Given the description of an element on the screen output the (x, y) to click on. 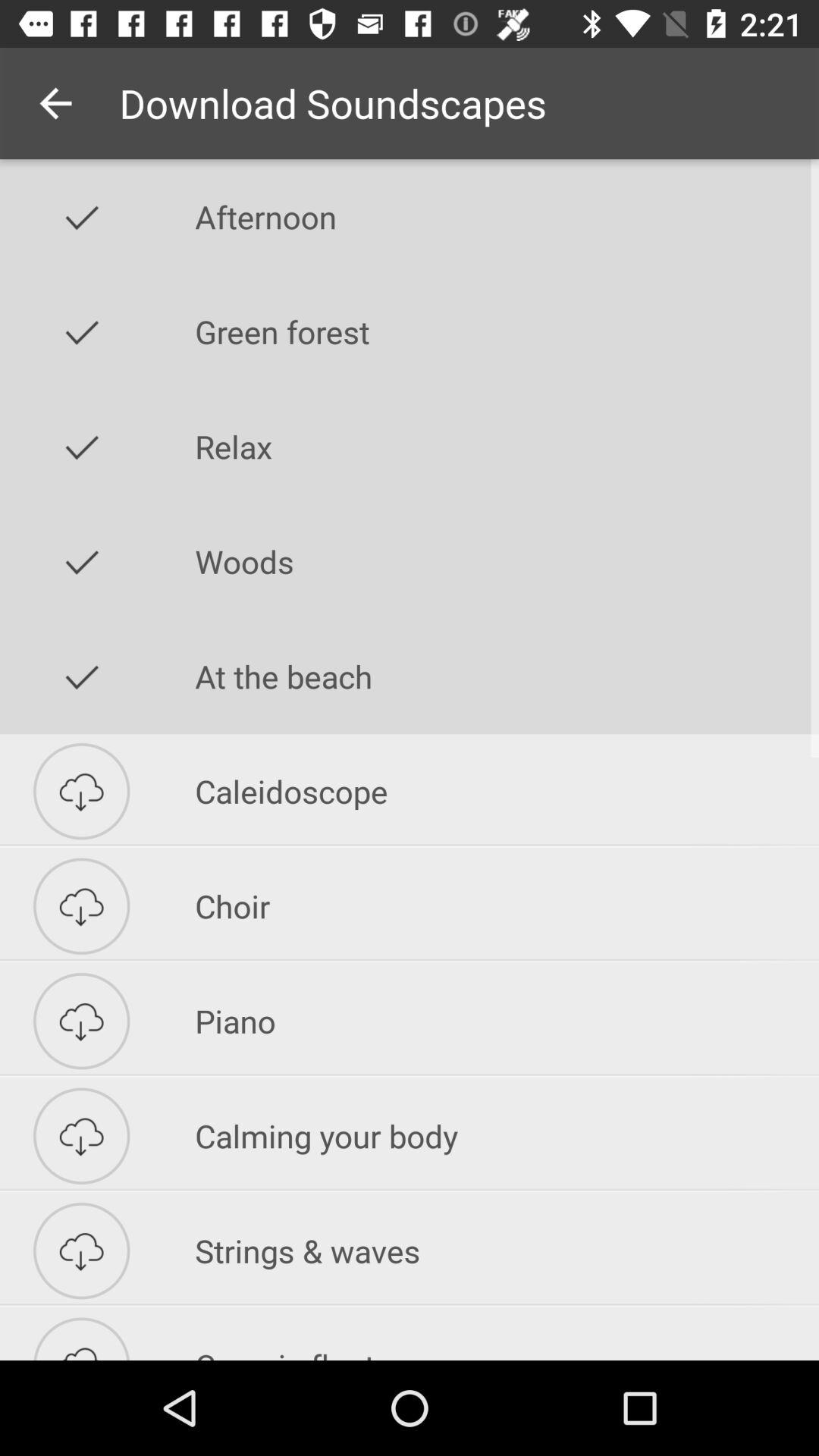
select the icon above the relax icon (507, 331)
